Given the description of an element on the screen output the (x, y) to click on. 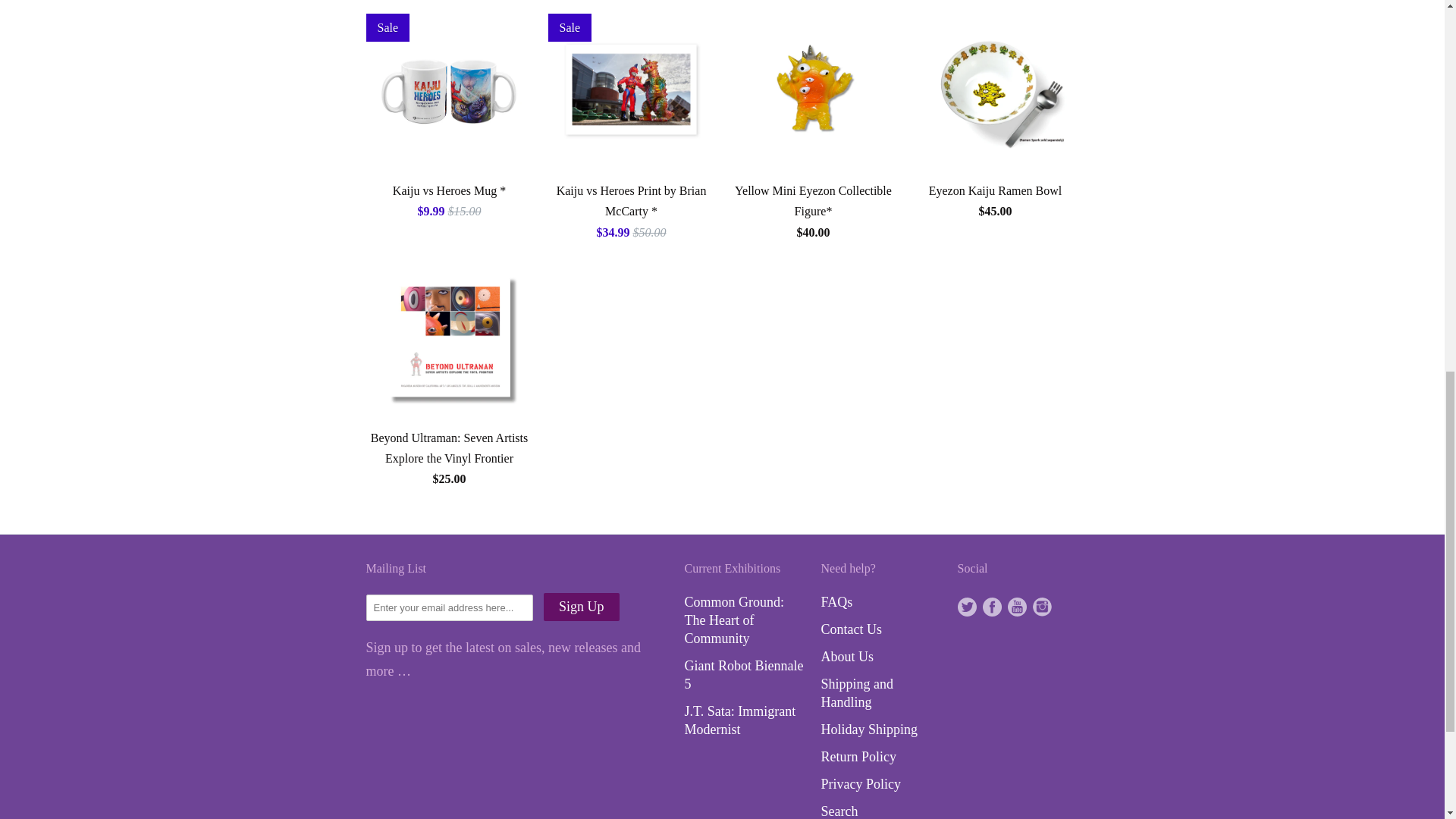
Sign Up (581, 606)
